Given the description of an element on the screen output the (x, y) to click on. 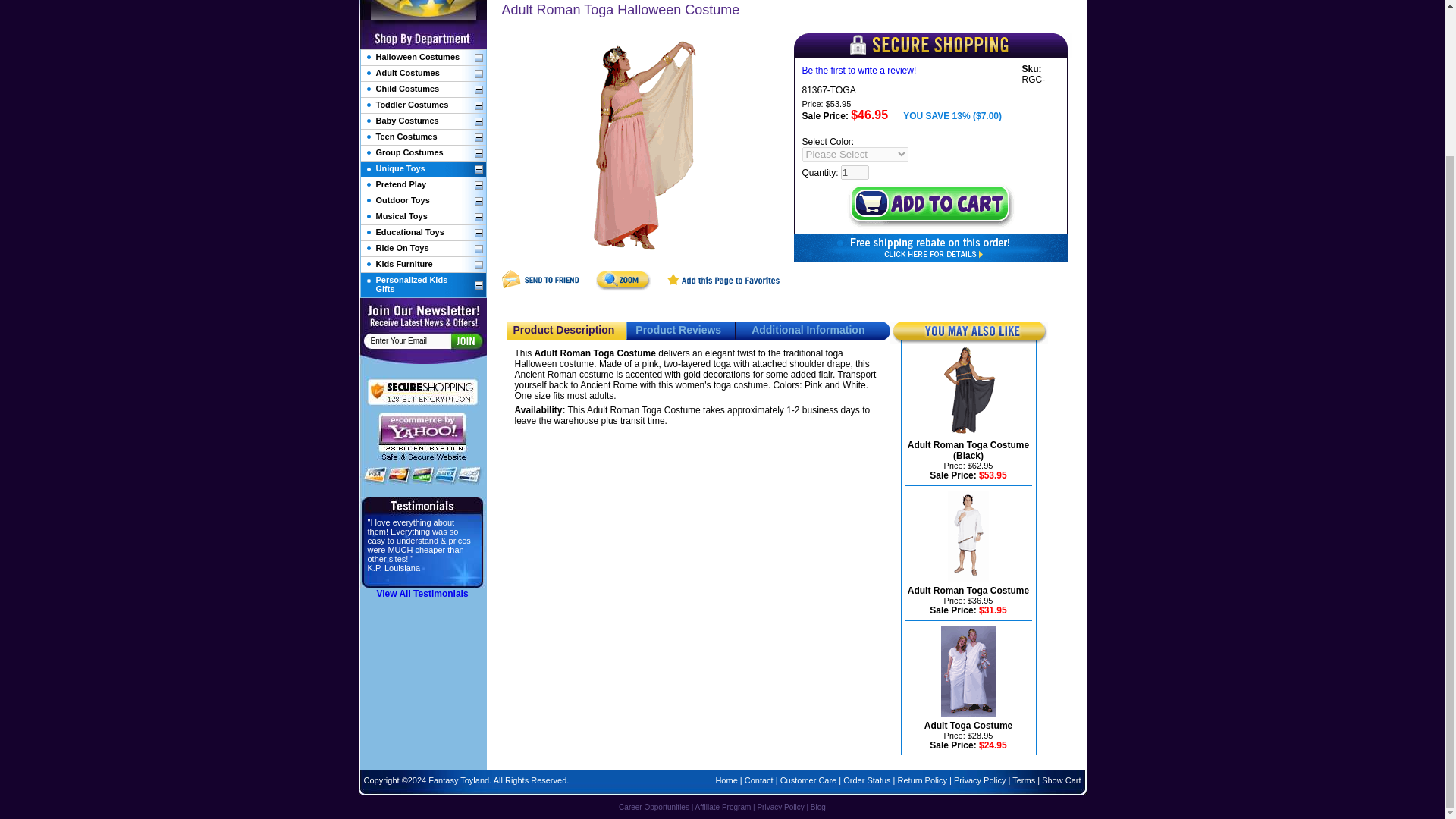
Be the first to write a review! (859, 70)
Select Color (855, 154)
Product Description (563, 329)
Adult Toga Costume (967, 725)
bookmark this page (723, 287)
Adult Roman Toga Costume (968, 590)
Additional Information (807, 329)
1 (855, 172)
Enter Your Email (409, 340)
Submit (465, 340)
